Given the description of an element on the screen output the (x, y) to click on. 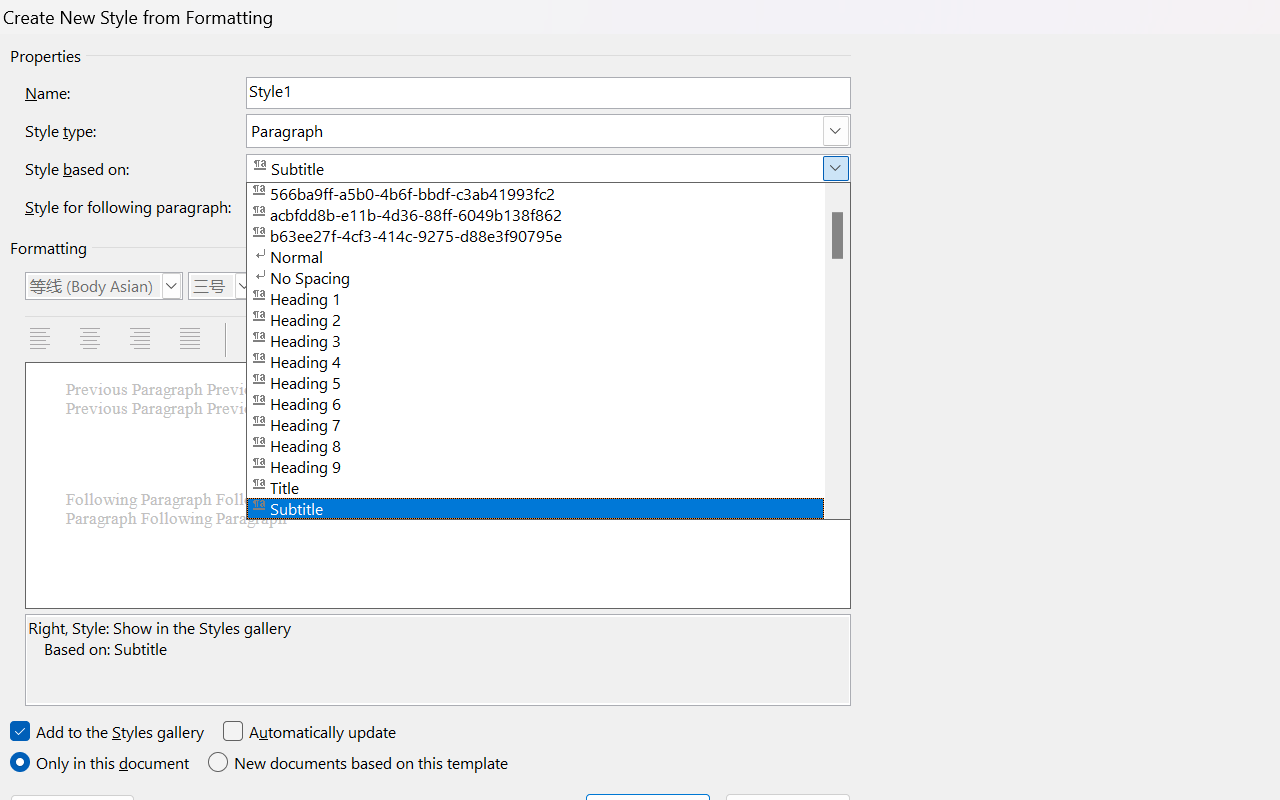
Font Color (Automatic) (483, 286)
566ba9ff-a5b0-4b6f-bbdf-c3ab41993fc2 (548, 192)
RichEdit Control (548, 92)
Heading 6 (548, 402)
b63ee27f-4cf3-414c-9275-d88e3f90795e (548, 234)
Heading 9 (548, 465)
Align Right (142, 339)
Normal (548, 254)
Align Left (42, 339)
Heading 2 (548, 318)
Double Spacing (359, 339)
Subtitle (548, 507)
Formatting script (639, 285)
Title (548, 486)
